Given the description of an element on the screen output the (x, y) to click on. 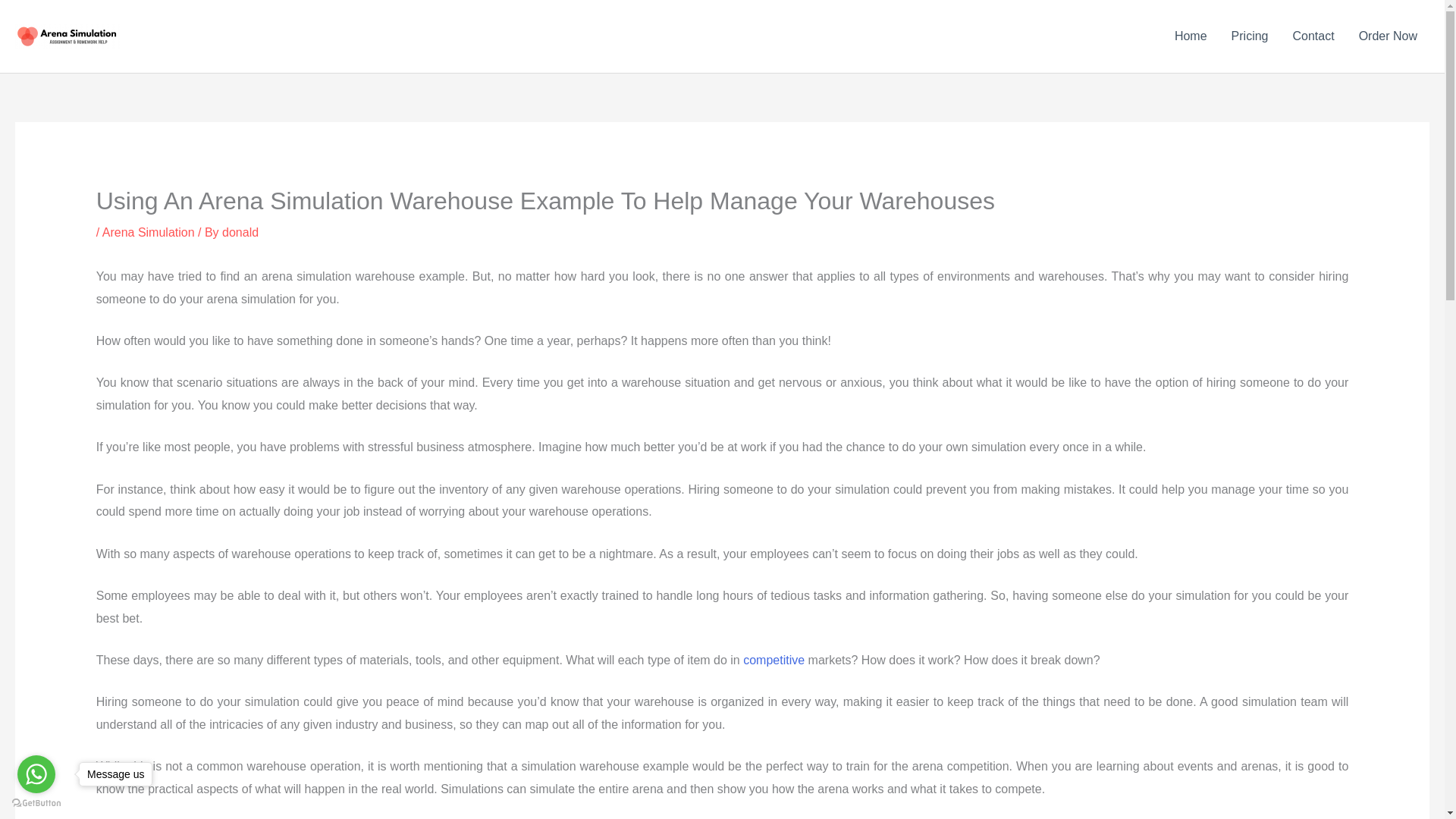
Home (1190, 36)
donald (240, 232)
Arena Simulation (148, 232)
Pricing (1250, 36)
Contact (1312, 36)
View all posts by donald (240, 232)
competitive (773, 659)
Order Now (1387, 36)
